Given the description of an element on the screen output the (x, y) to click on. 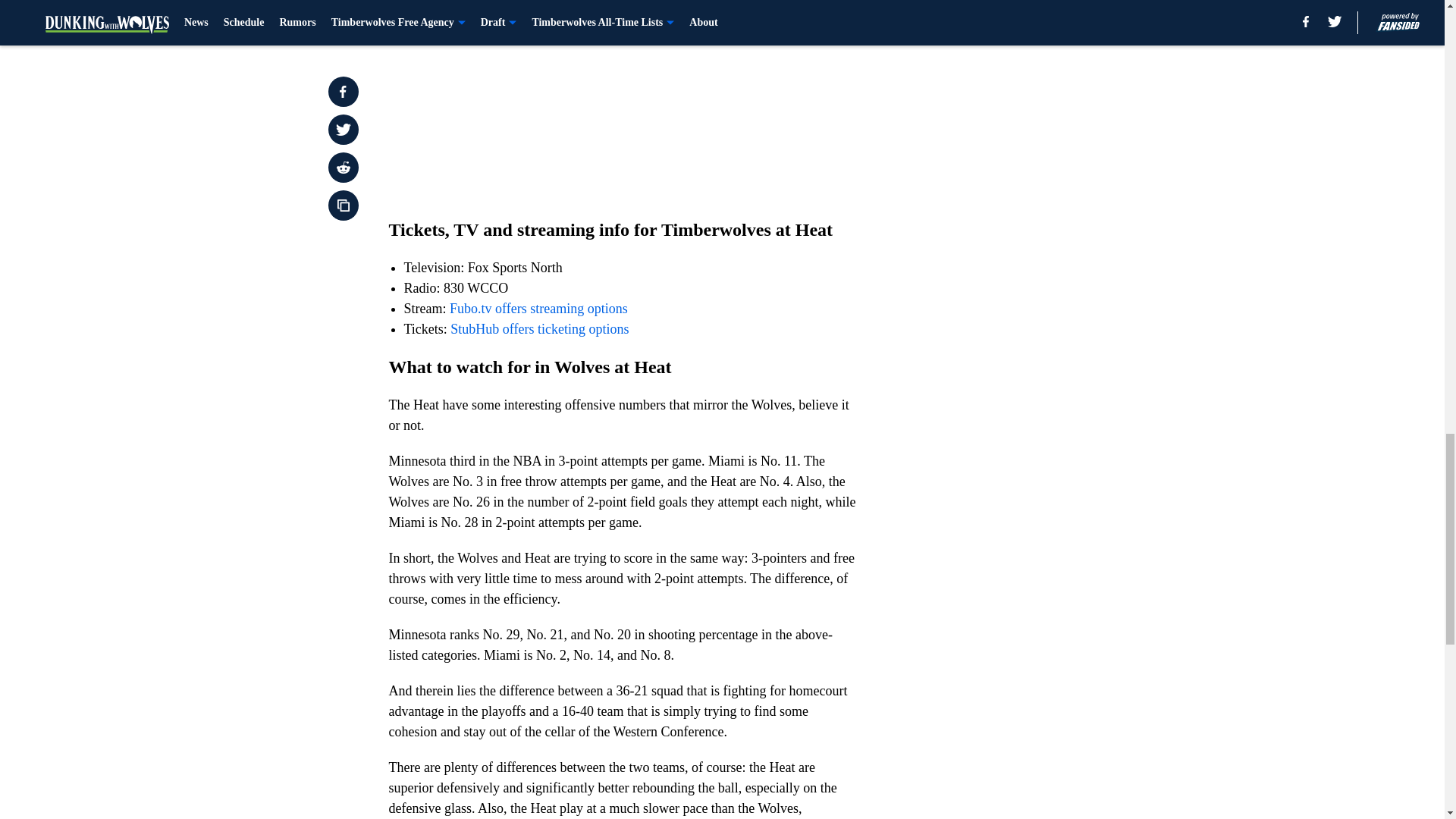
StubHub offers ticketing options (538, 328)
Fubo.tv offers streaming options (538, 308)
